Given the description of an element on the screen output the (x, y) to click on. 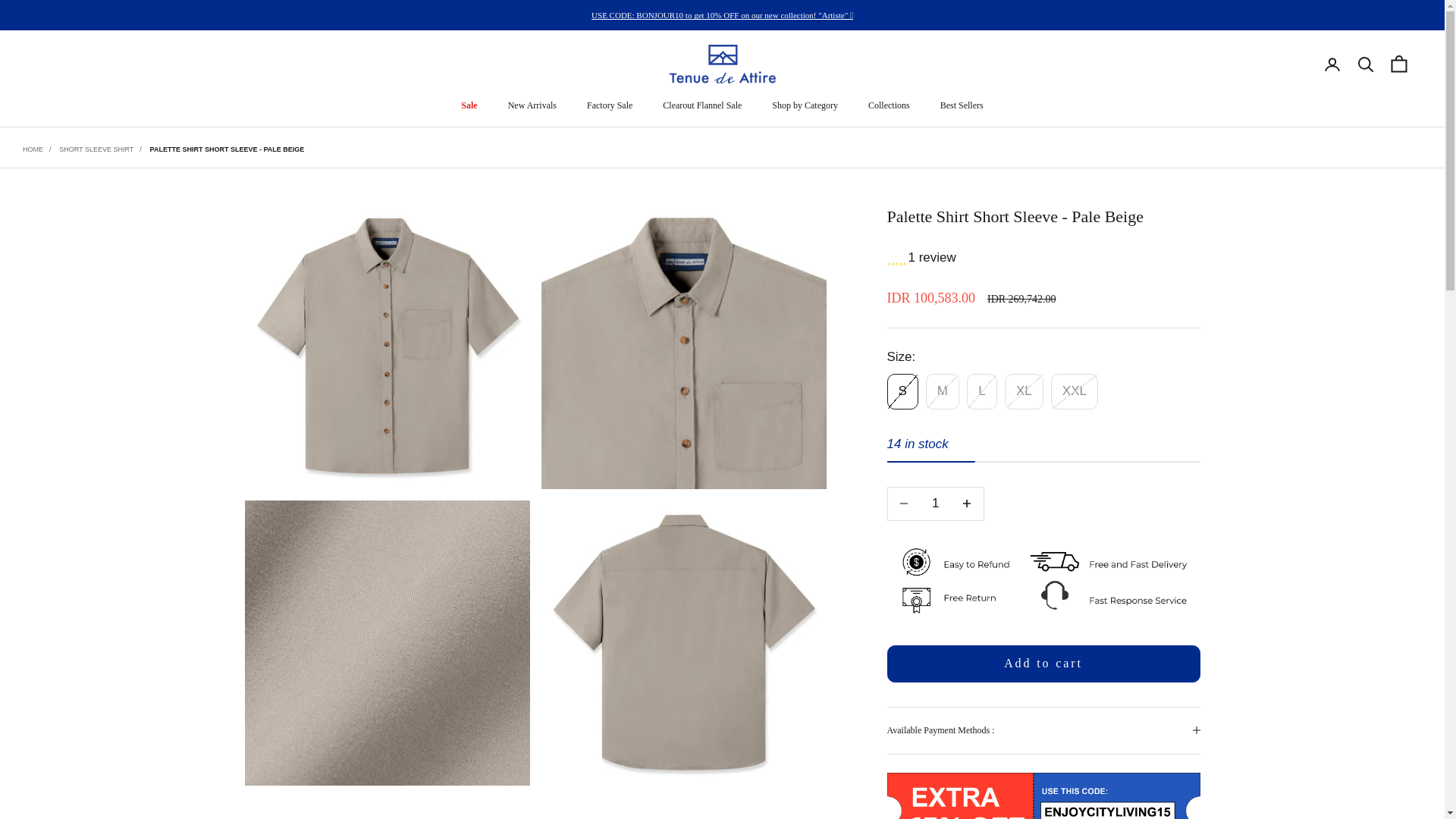
Clearout Flannel Sale (701, 105)
Open search (1365, 64)
Tenue de Attire (721, 63)
Best Sellers (962, 105)
1 (935, 503)
Open cart (1398, 64)
Open account page (1331, 64)
Sale (469, 105)
Factory Sale (608, 105)
Artiste (722, 14)
